Given the description of an element on the screen output the (x, y) to click on. 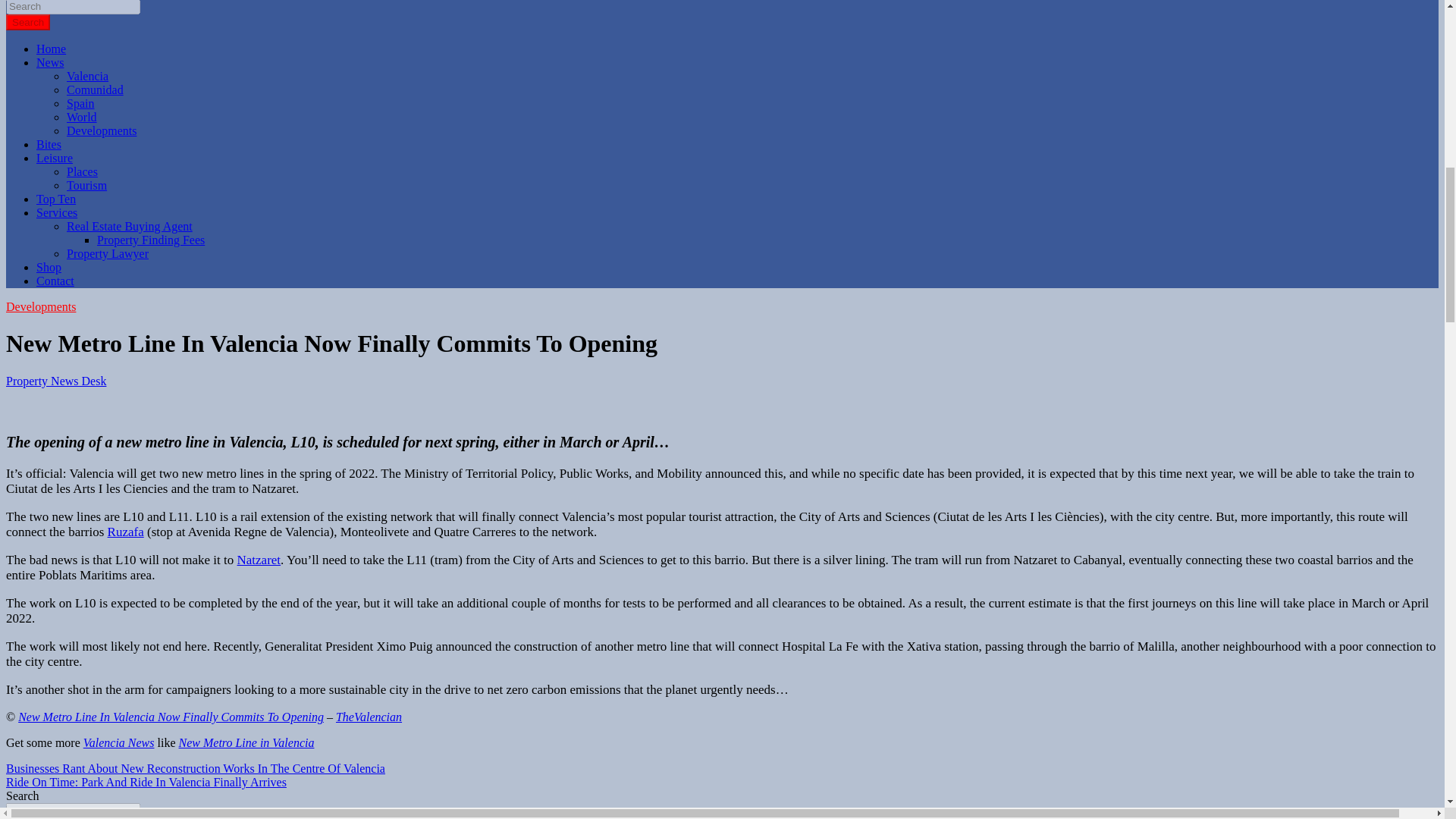
Ride On Time: Park And Ride In Valencia Finally Arrives (145, 781)
Contact (55, 280)
Property Finding Fees (151, 239)
Valencia News (118, 742)
Places (81, 171)
Bites (48, 144)
Developments (101, 130)
Valencia (86, 75)
New Metro Line In Valencia Now Finally Commits To Opening (170, 716)
Services (56, 212)
Property News Desk (55, 380)
Leisure (54, 157)
Shop (48, 267)
Natzaret (259, 559)
